Given the description of an element on the screen output the (x, y) to click on. 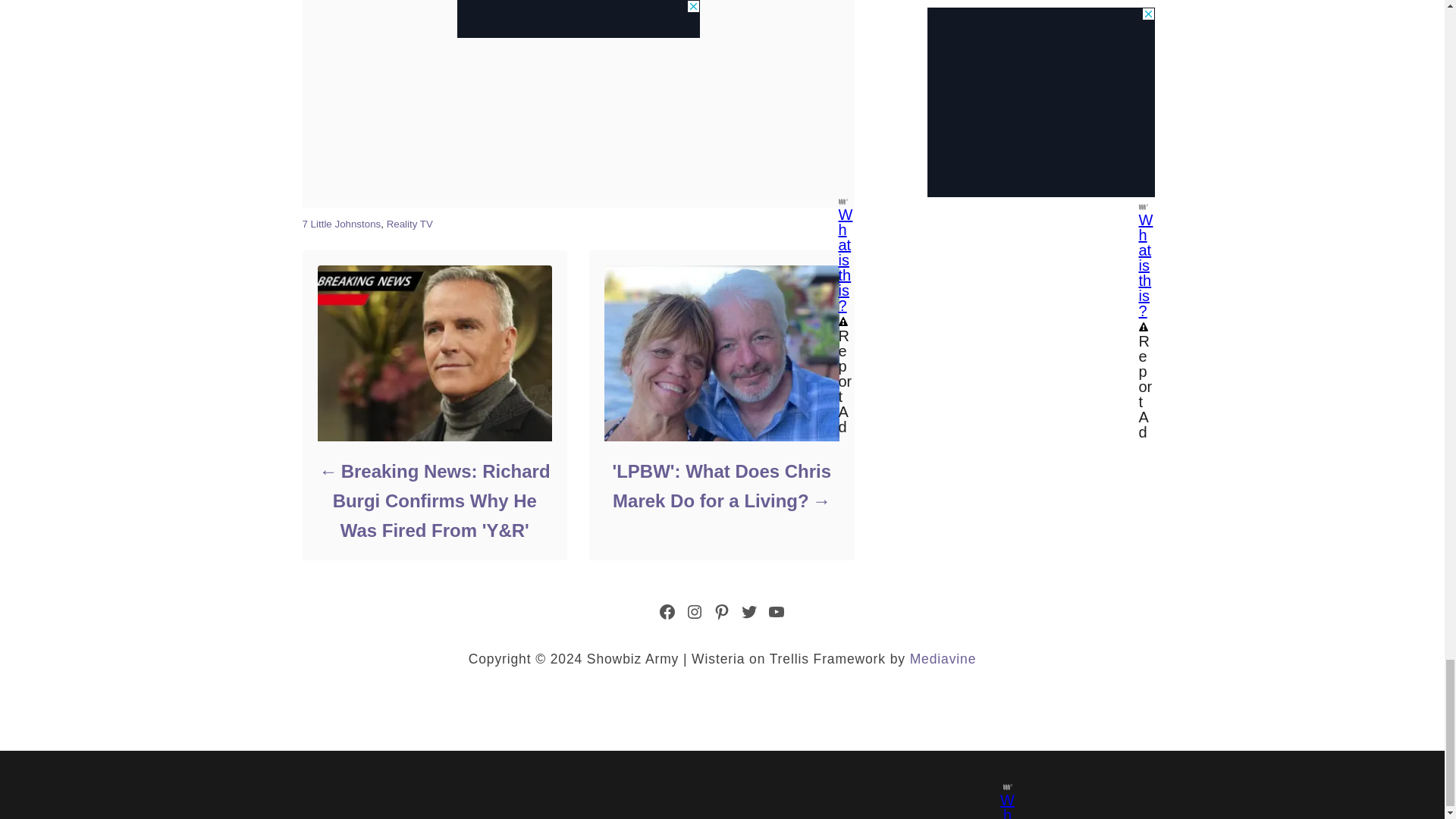
Reality TV (409, 224)
7 Little Johnstons (340, 224)
'LPBW': What Does Chris Marek Do for a Living? (721, 485)
